Given the description of an element on the screen output the (x, y) to click on. 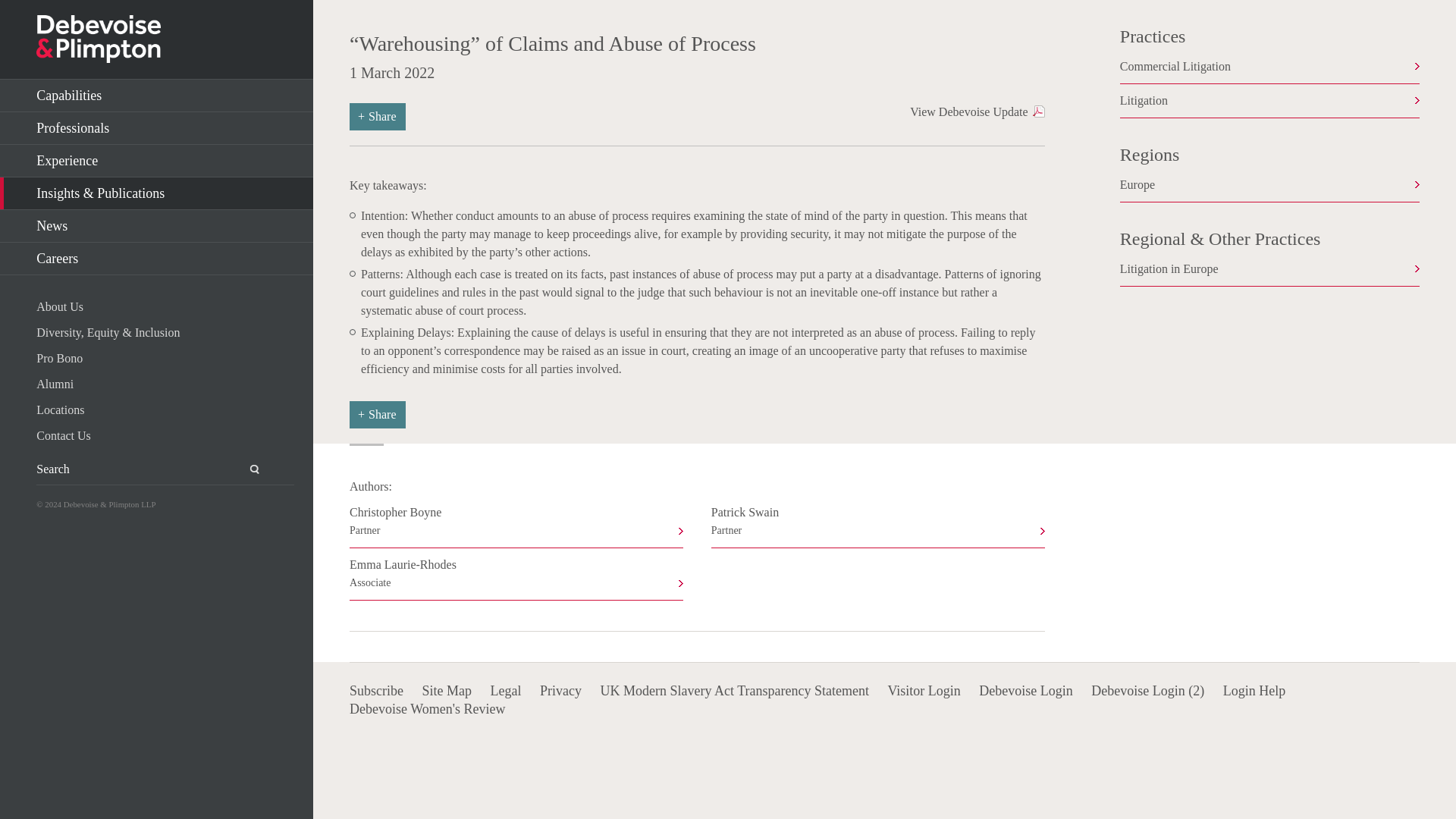
Privacy (560, 690)
Share (377, 116)
View Debevoise Update (977, 112)
Contact Us (165, 435)
Search (245, 469)
News (515, 578)
Professionals (156, 225)
Locations (156, 128)
